Given the description of an element on the screen output the (x, y) to click on. 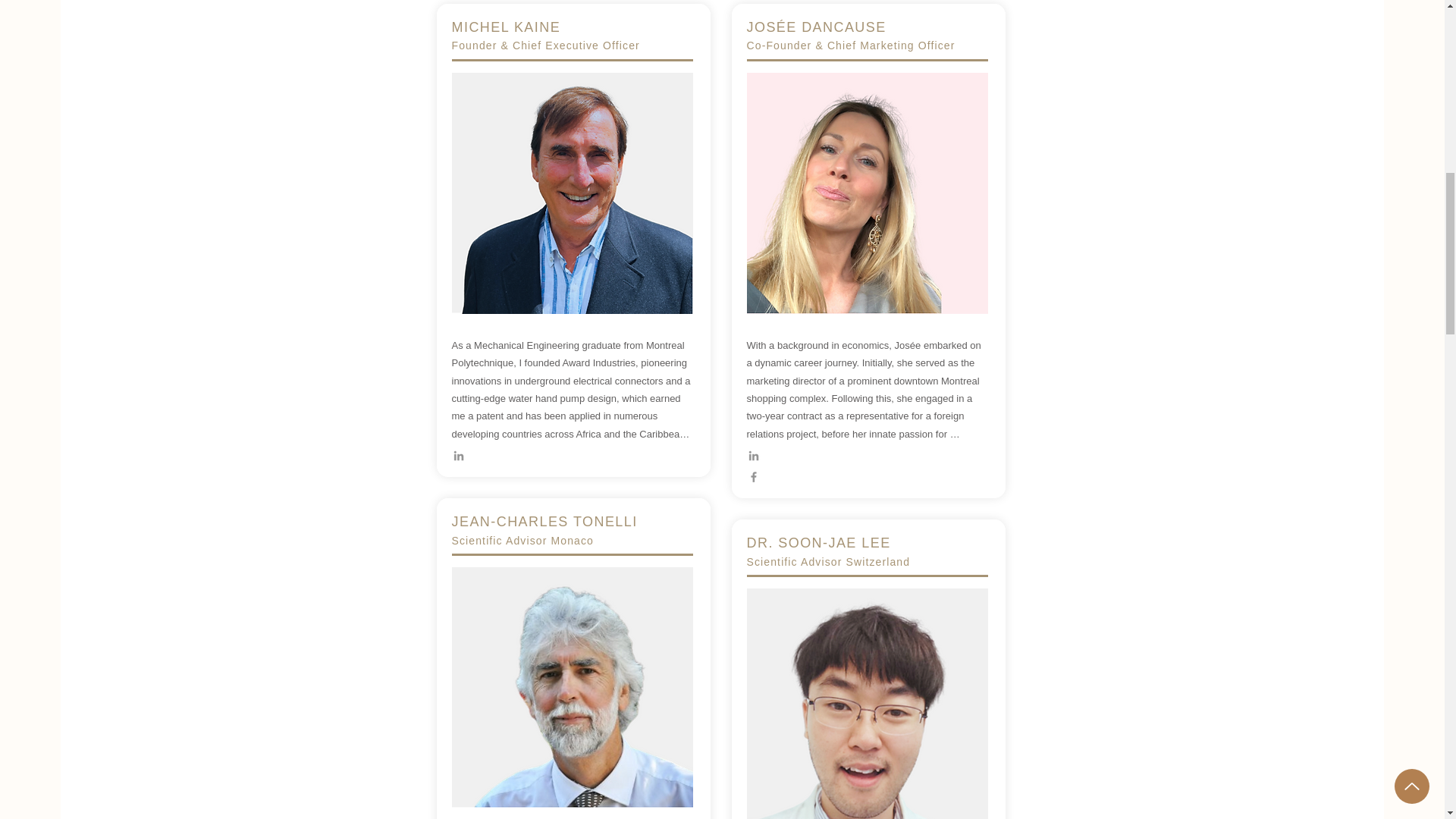
Michel Kaine (572, 192)
Dr. Soon-Jae Lee (572, 687)
Josee Dancause (866, 192)
Dr. Soon-Jae Lee (866, 703)
